Given the description of an element on the screen output the (x, y) to click on. 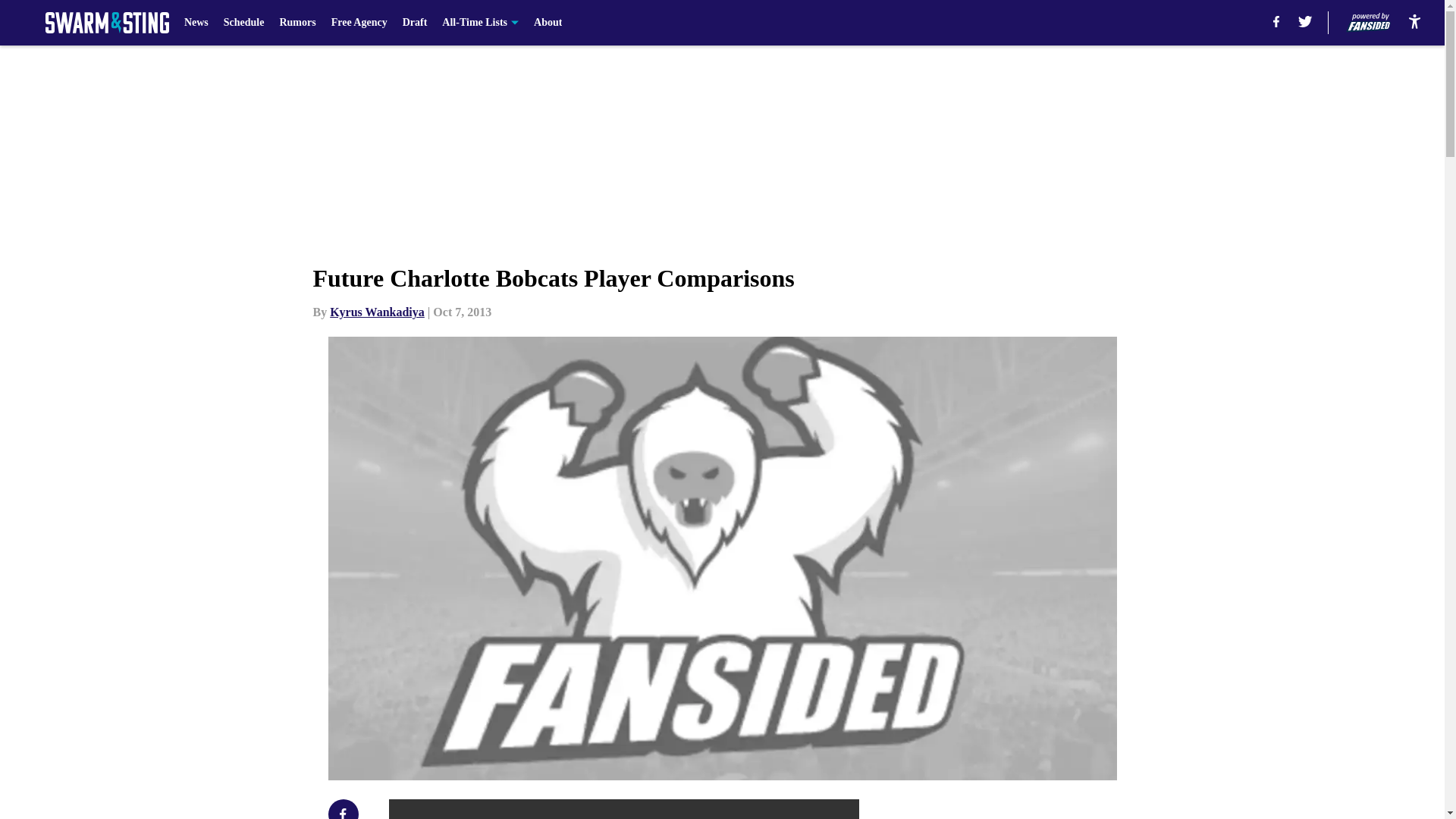
All-Time Lists (480, 22)
Free Agency (359, 22)
News (196, 22)
About (548, 22)
Schedule (244, 22)
Kyrus Wankadiya (377, 311)
3rd party ad content (1047, 809)
Rumors (297, 22)
Draft (415, 22)
